Given the description of an element on the screen output the (x, y) to click on. 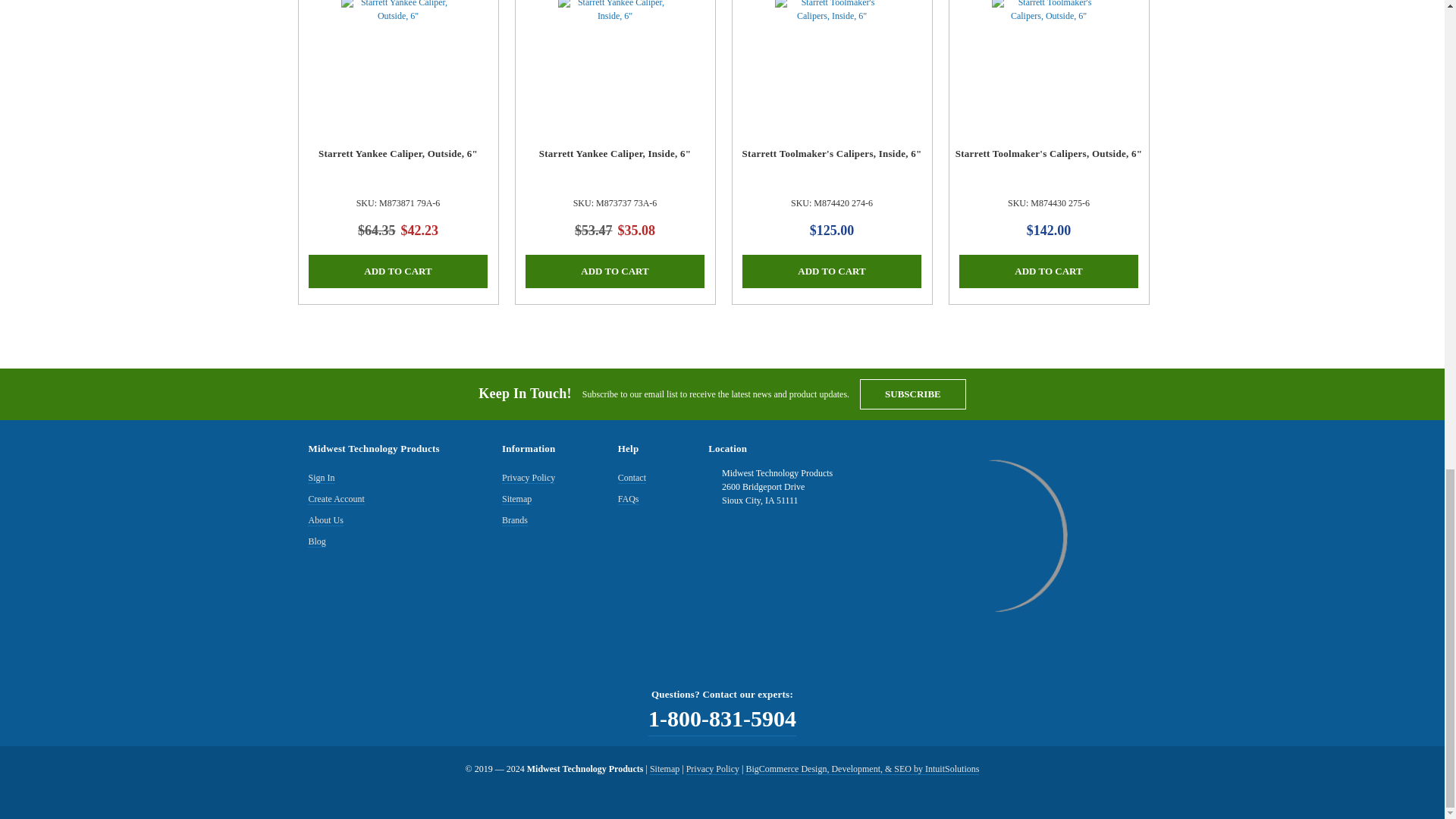
Add to Cart (1048, 271)
Add to Cart (614, 271)
Add to Cart (397, 271)
Add to Cart (831, 271)
